Given the description of an element on the screen output the (x, y) to click on. 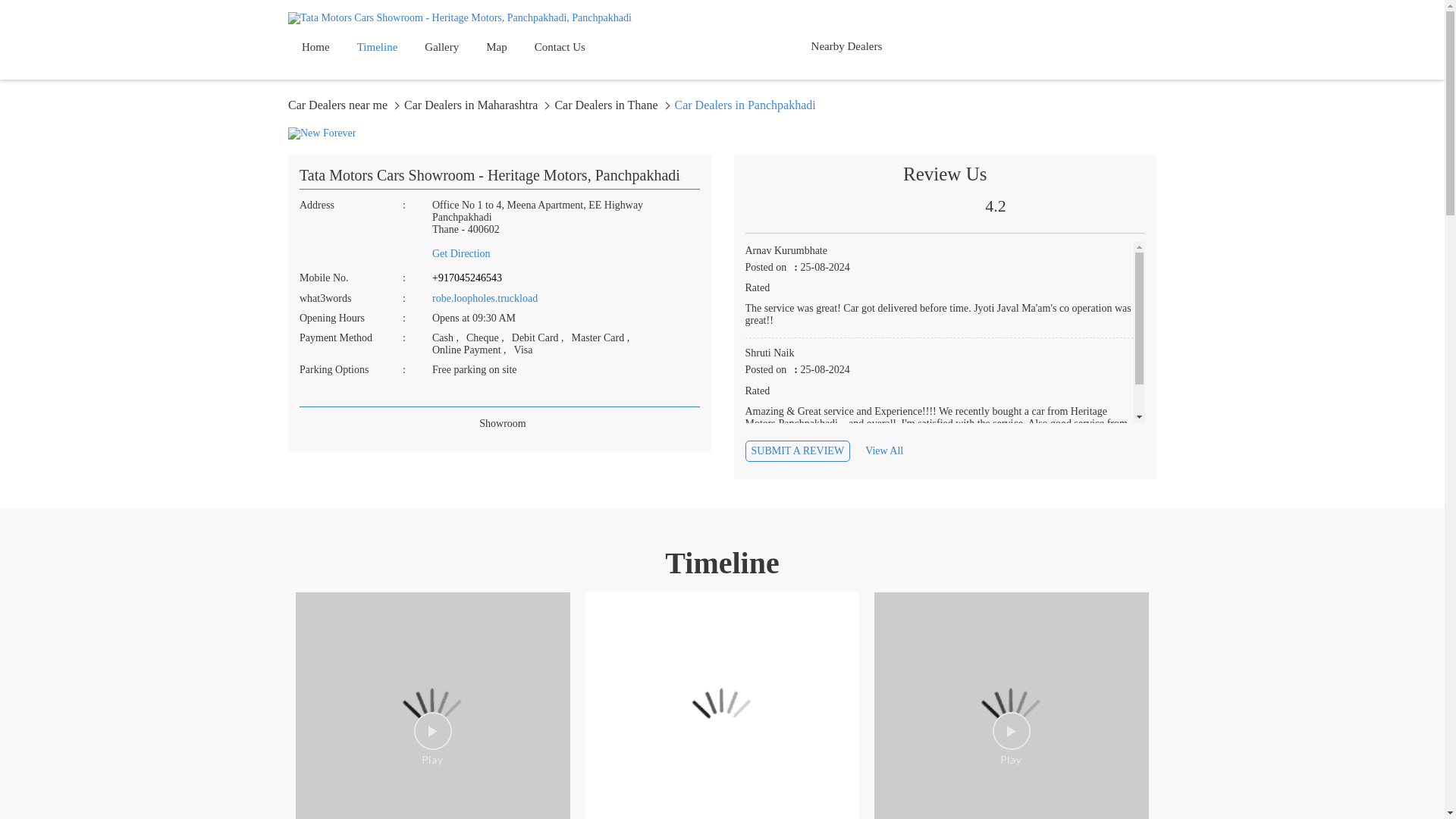
Striking in presence, unstoppable in performance (432, 705)
Car Dealers in Thane (611, 105)
Car Dealers in Maharashtra (477, 105)
Contact Us (559, 47)
View all reviews on our Google Plus page (894, 451)
Get Direction (566, 253)
Submit your review on our Google Plus page (797, 450)
New Forever (321, 133)
Car Dealers in Maharashtra (477, 105)
Nearby Dealers (835, 48)
